Given the description of an element on the screen output the (x, y) to click on. 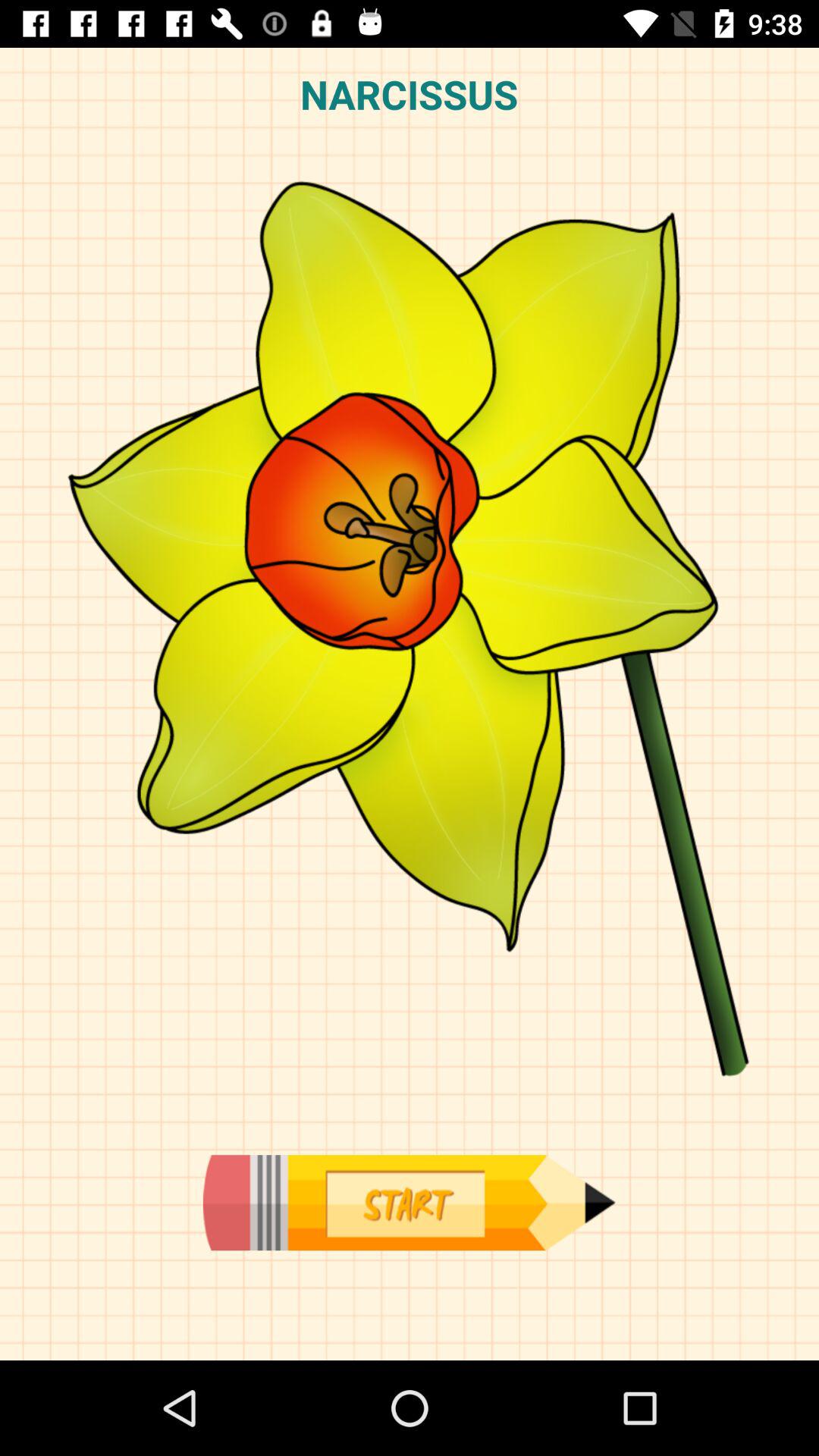
start (409, 1202)
